Given the description of an element on the screen output the (x, y) to click on. 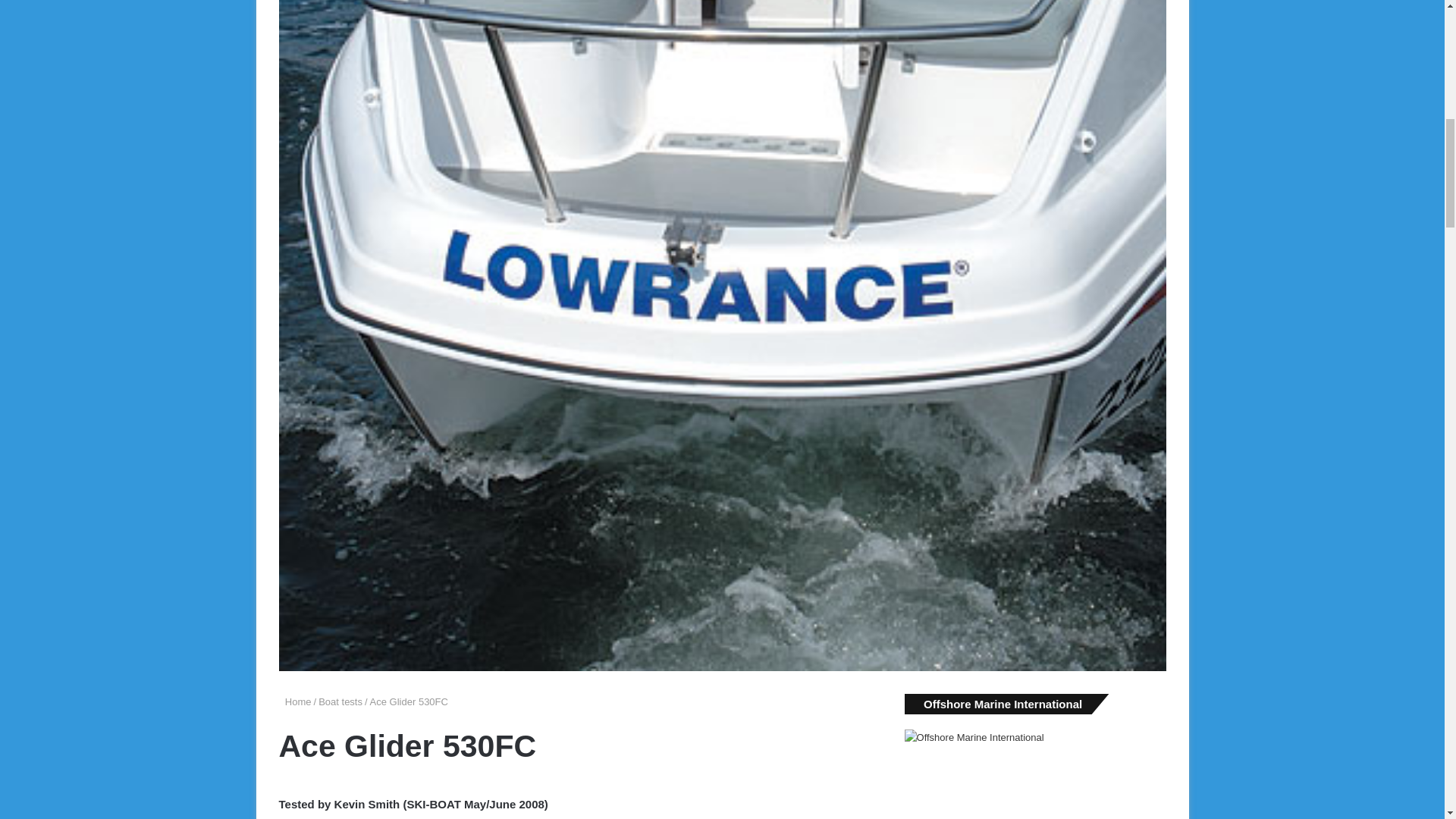
Offshore Marine International (1035, 774)
Home (295, 701)
Boat tests (340, 701)
